Given the description of an element on the screen output the (x, y) to click on. 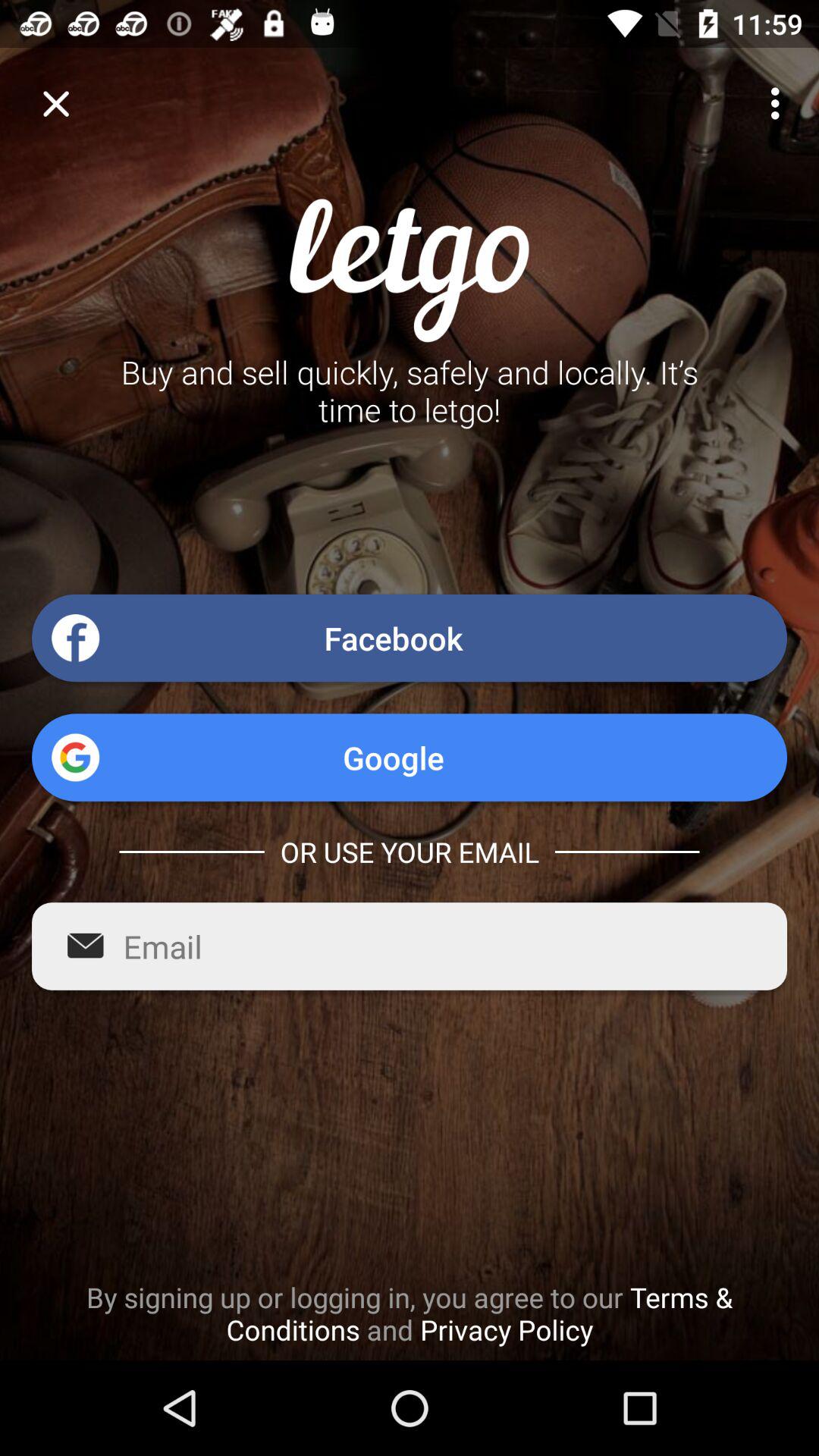
turn on the facebook icon (409, 637)
